Given the description of an element on the screen output the (x, y) to click on. 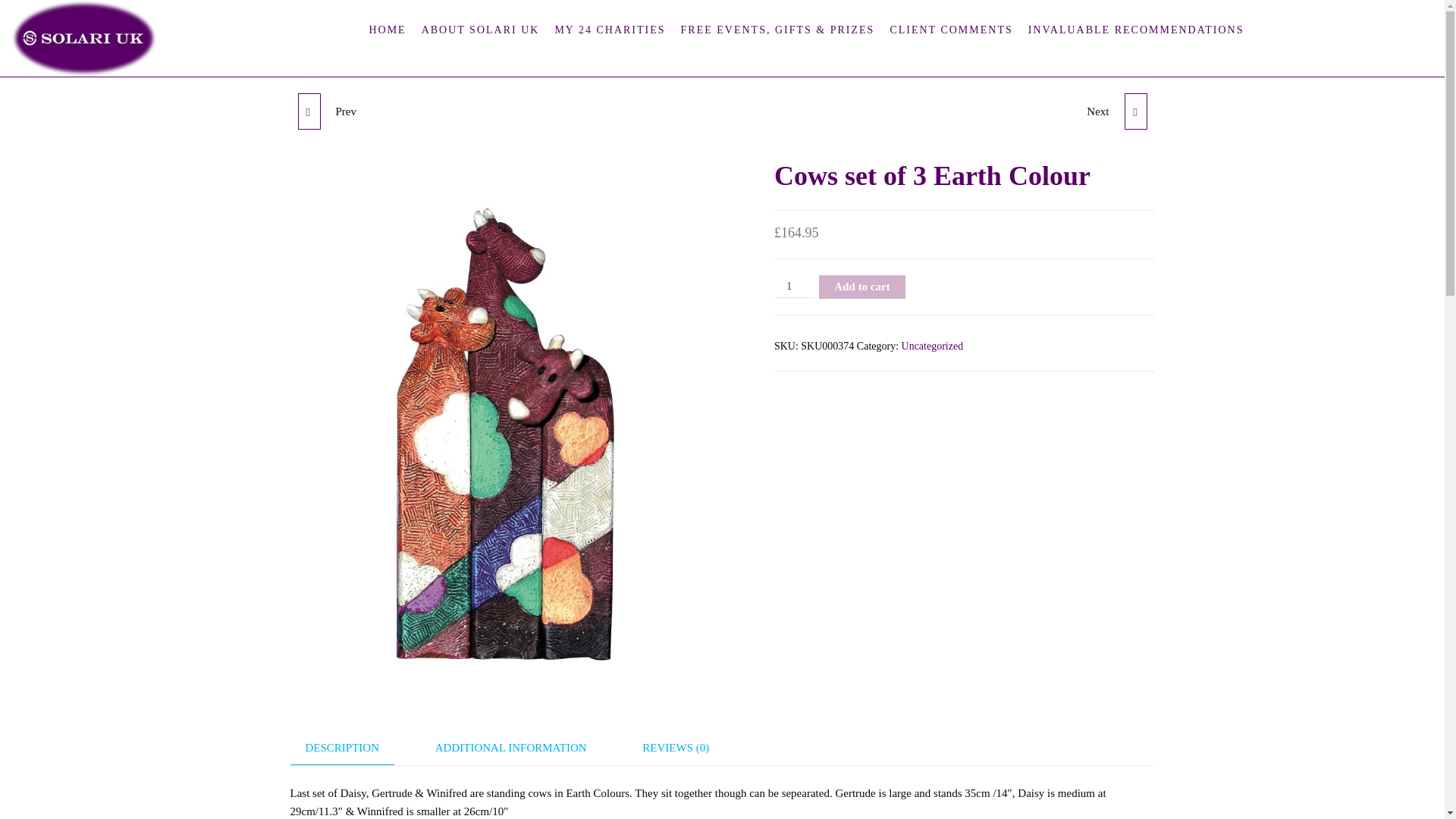
Add to cart (861, 286)
CLIENT COMMENTS (951, 30)
ADDITIONAL INFORMATION (511, 747)
ABOUT SOLARI UK (480, 30)
1 (794, 286)
Invaluable Recommendations (1136, 30)
MY 24 CHARITIES (609, 30)
INVALUABLE RECOMMENDATIONS (1136, 30)
Client Comments (951, 30)
My 24 Charities (609, 30)
Uncategorized (932, 346)
DESCRIPTION (341, 747)
About Solari UK (480, 30)
